Given the description of an element on the screen output the (x, y) to click on. 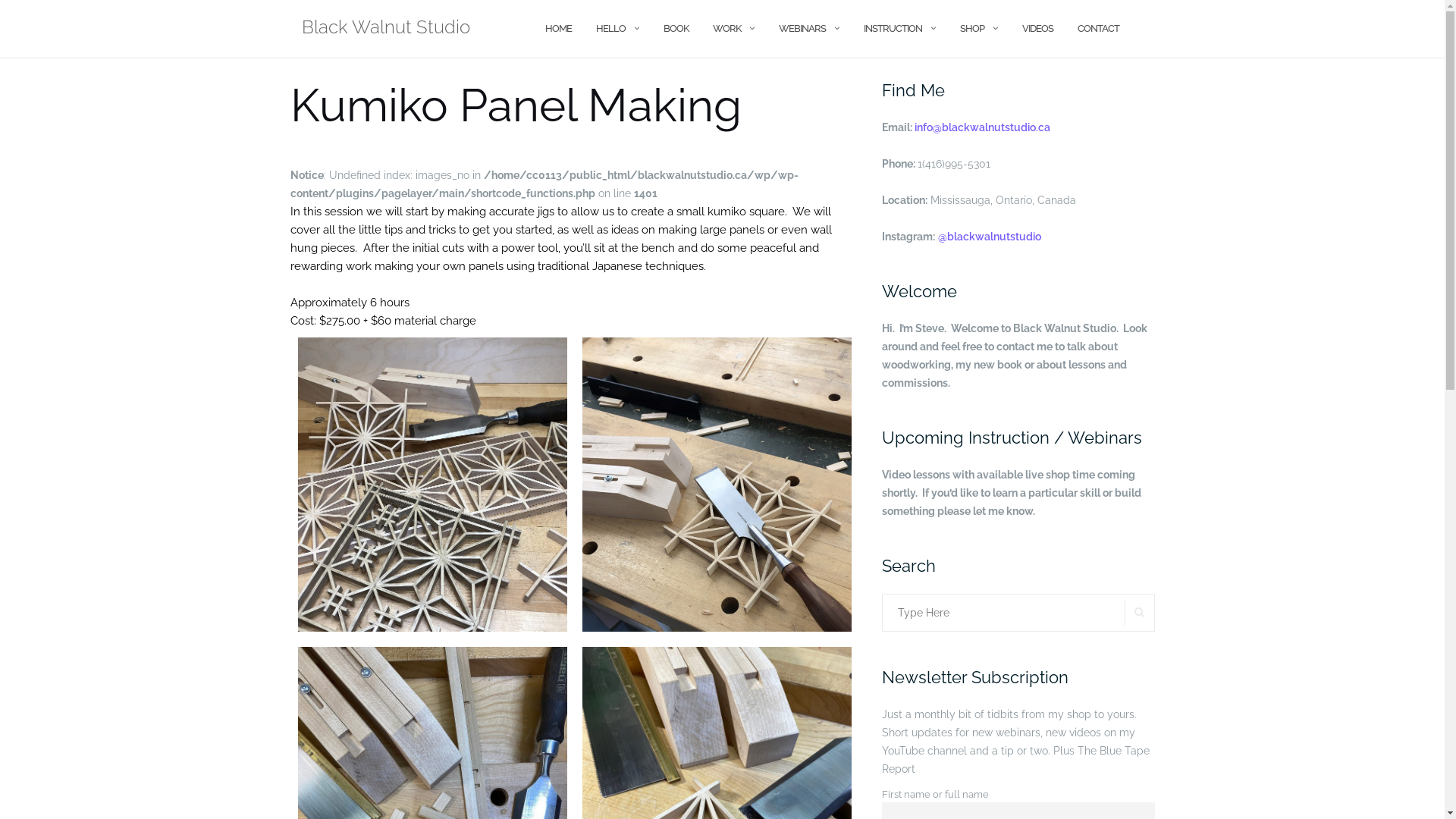
HOME Element type: text (557, 28)
info@blackwalnutstudio.ca Element type: text (982, 127)
SEARCH Element type: text (1138, 612)
WEBINARS Element type: text (801, 28)
HELLO Element type: text (610, 28)
kumiko6 Element type: hover (716, 484)
VIDEOS Element type: text (1037, 28)
kumiko lead Element type: hover (431, 622)
kumiko lead Element type: hover (431, 484)
kumiko6 Element type: hover (716, 622)
BOOK Element type: text (674, 28)
WORK Element type: text (726, 28)
Black Walnut Studio Element type: text (385, 28)
CONTACT Element type: text (1097, 28)
SHOP Element type: text (972, 28)
@blackwalnutstudio Element type: text (988, 236)
INSTRUCTION Element type: text (891, 28)
